Given the description of an element on the screen output the (x, y) to click on. 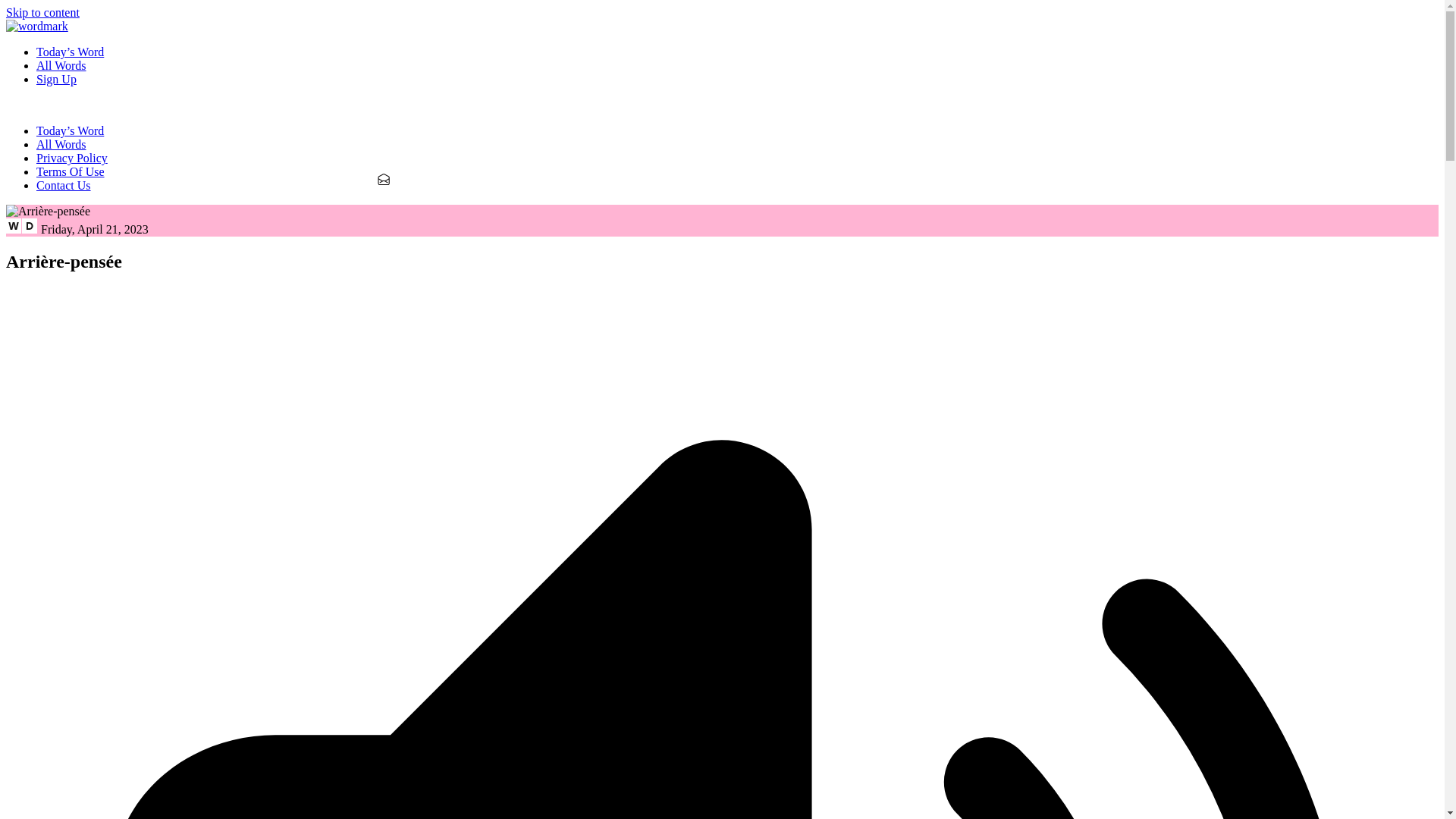
Privacy Policy (71, 157)
Contact Us (63, 185)
Sign Up (56, 78)
All Words (60, 65)
Skip to content (42, 11)
Terms Of Use (70, 171)
All Words (60, 144)
